Given the description of an element on the screen output the (x, y) to click on. 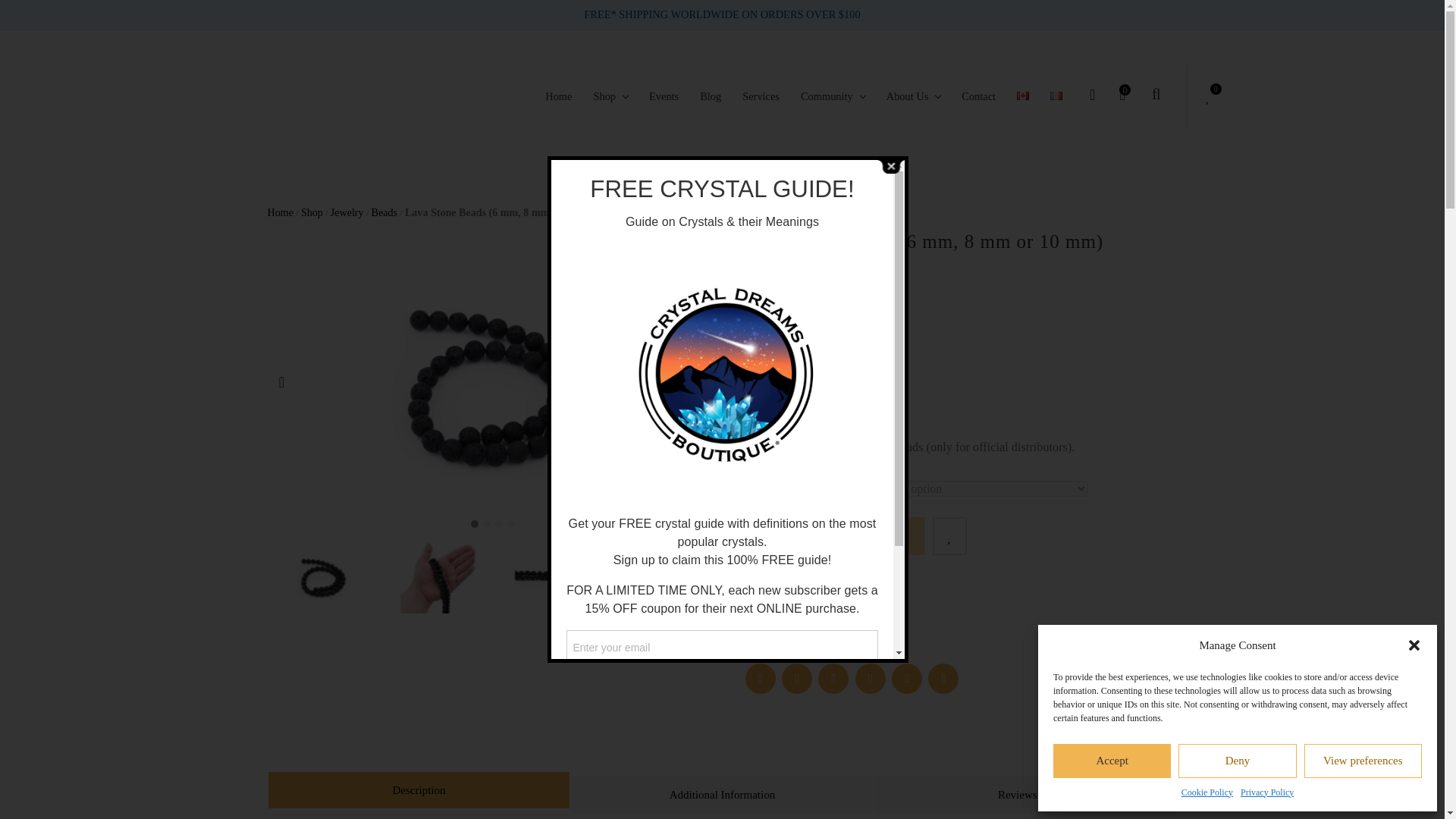
Shop (609, 96)
PayPal (960, 599)
View preferences (1363, 759)
Privacy Policy (1267, 792)
Home (558, 96)
Deny (1236, 759)
Close (890, 165)
Accept (1111, 759)
Cookie Policy (1206, 792)
1 (771, 534)
